Given the description of an element on the screen output the (x, y) to click on. 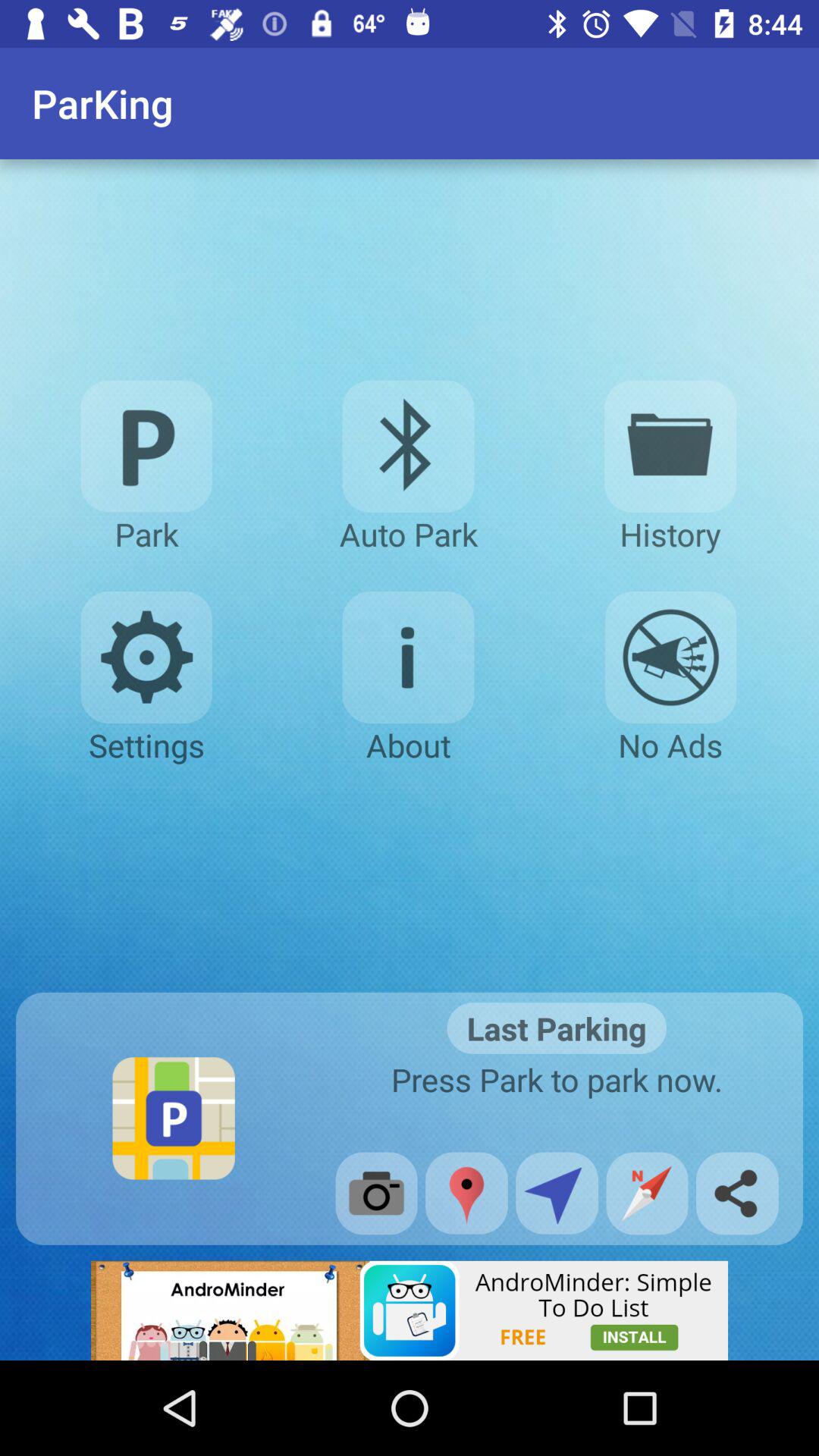
banner advertisement (409, 1310)
